Given the description of an element on the screen output the (x, y) to click on. 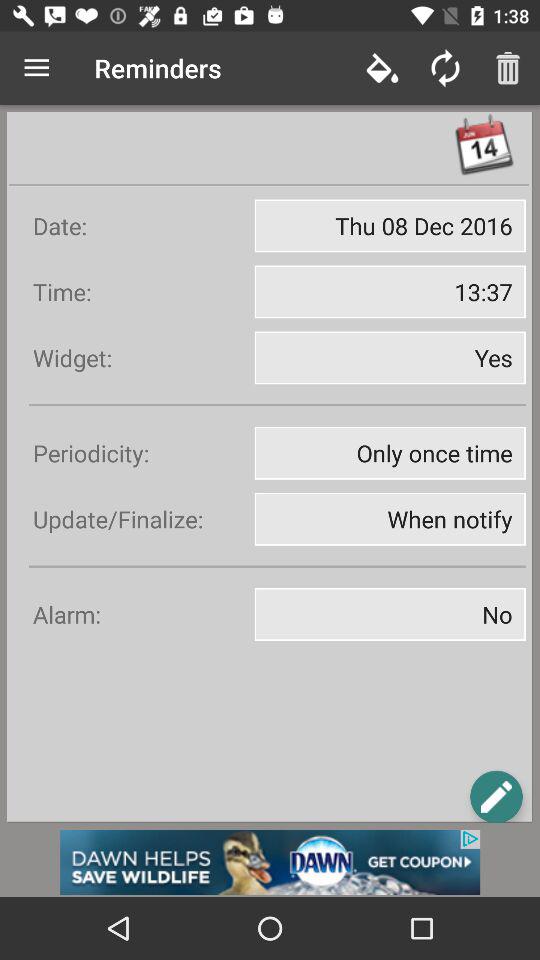
search pega (496, 796)
